Given the description of an element on the screen output the (x, y) to click on. 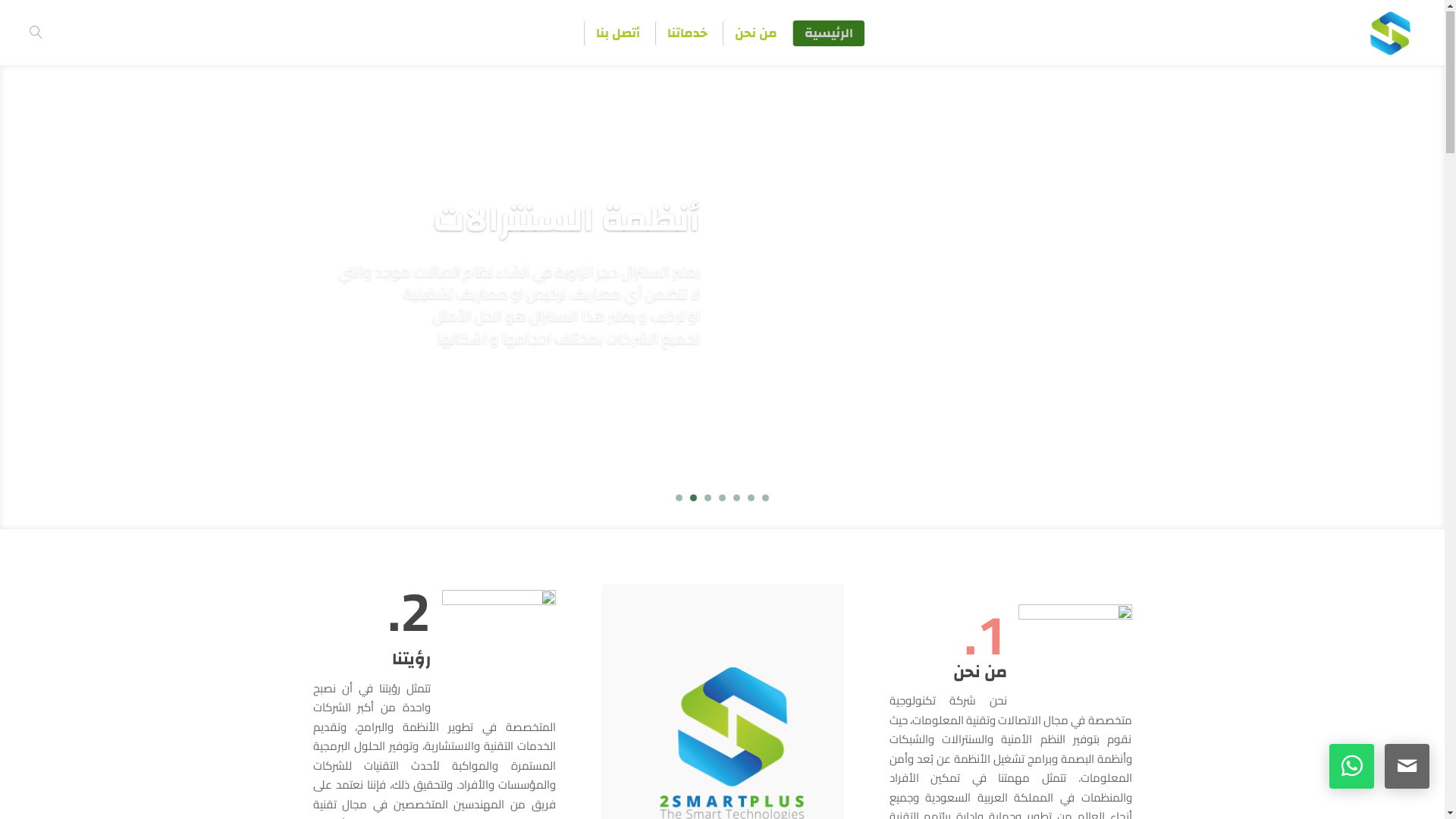
5 Element type: text (707, 498)
3 Element type: text (736, 498)
2 Element type: text (750, 498)
7 Element type: text (678, 498)
6 Element type: text (693, 498)
4 Element type: text (721, 498)
1 Element type: text (765, 498)
